Given the description of an element on the screen output the (x, y) to click on. 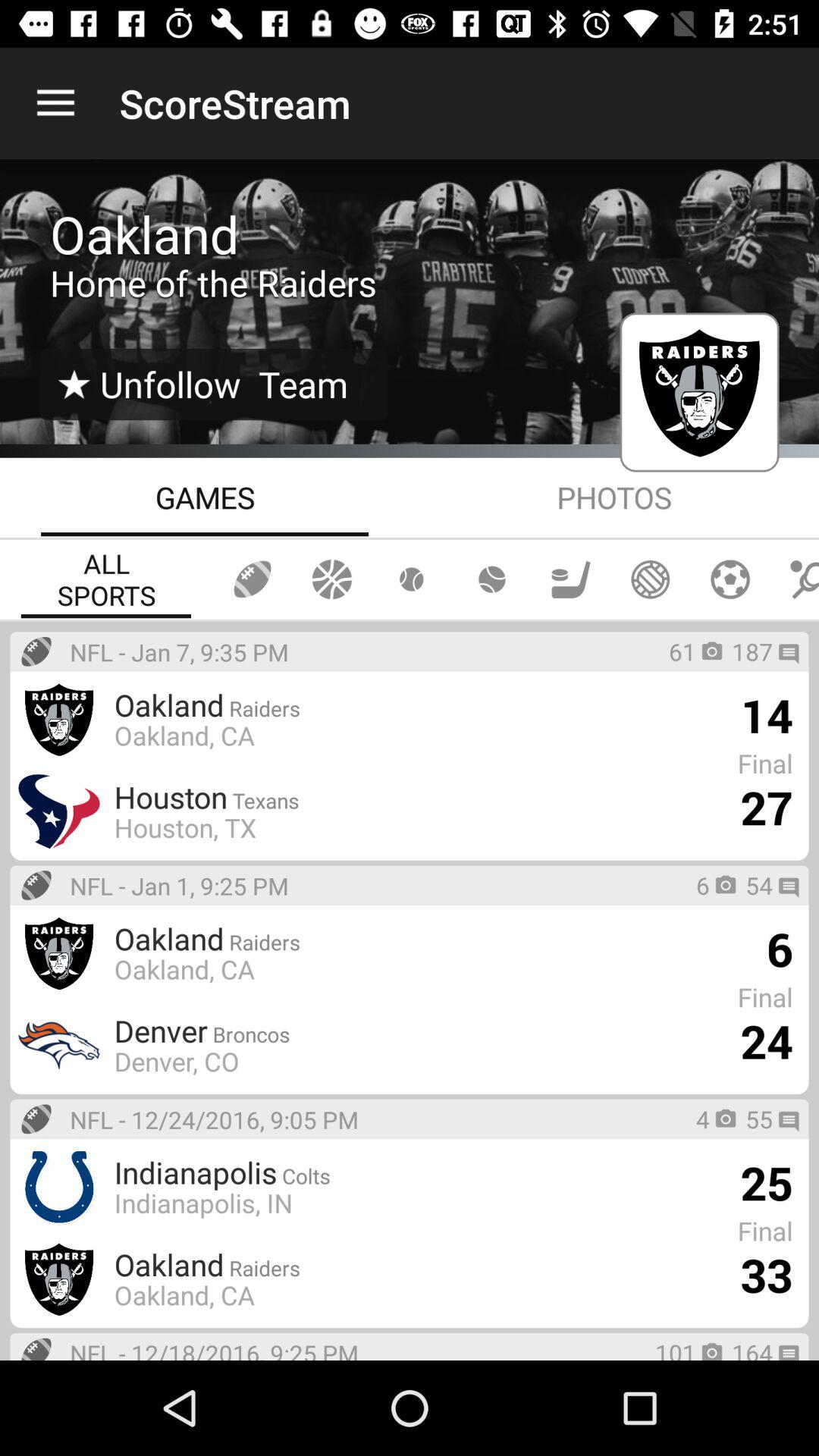
turn off denver, co icon (176, 1060)
